Given the description of an element on the screen output the (x, y) to click on. 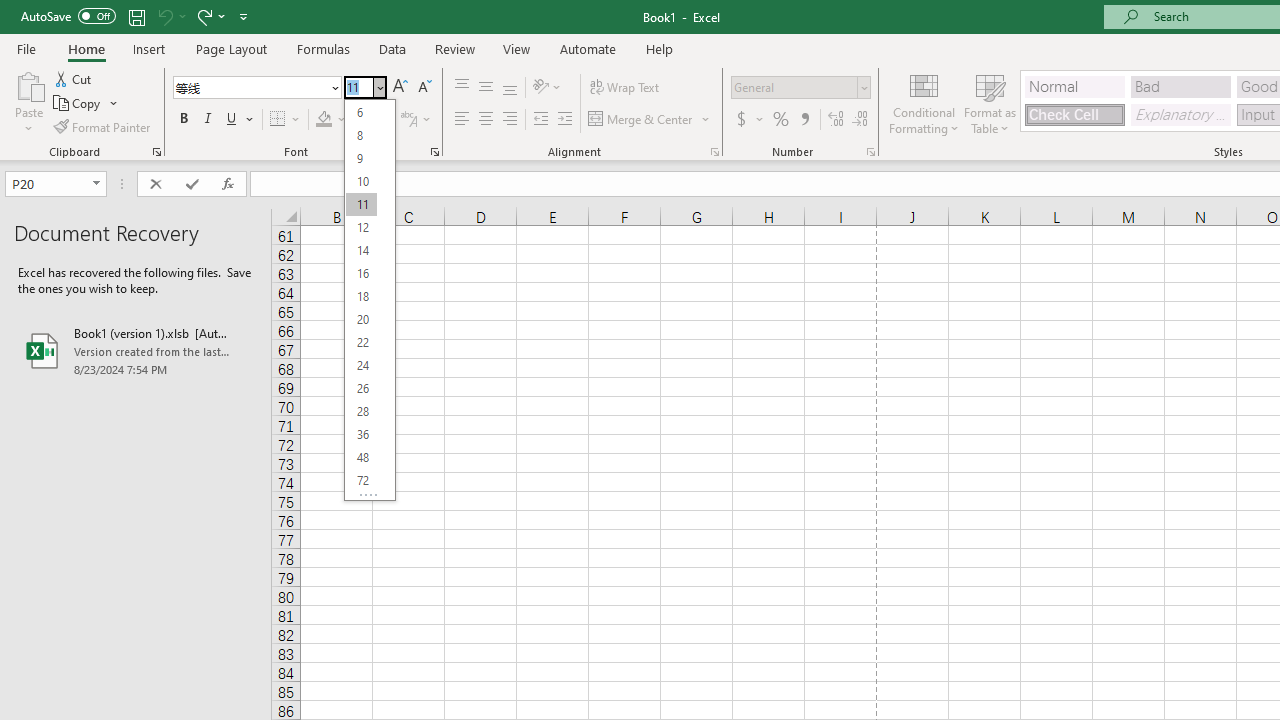
Copy (78, 103)
Align Right (509, 119)
Undo (164, 15)
Number Format (800, 87)
Cut (73, 78)
18 (361, 296)
System (10, 11)
Undo (170, 15)
Format Painter (103, 126)
Number Format (794, 87)
More Options (760, 119)
Bottom Border (278, 119)
Accounting Number Format (749, 119)
Review (454, 48)
Percent Style (781, 119)
